Given the description of an element on the screen output the (x, y) to click on. 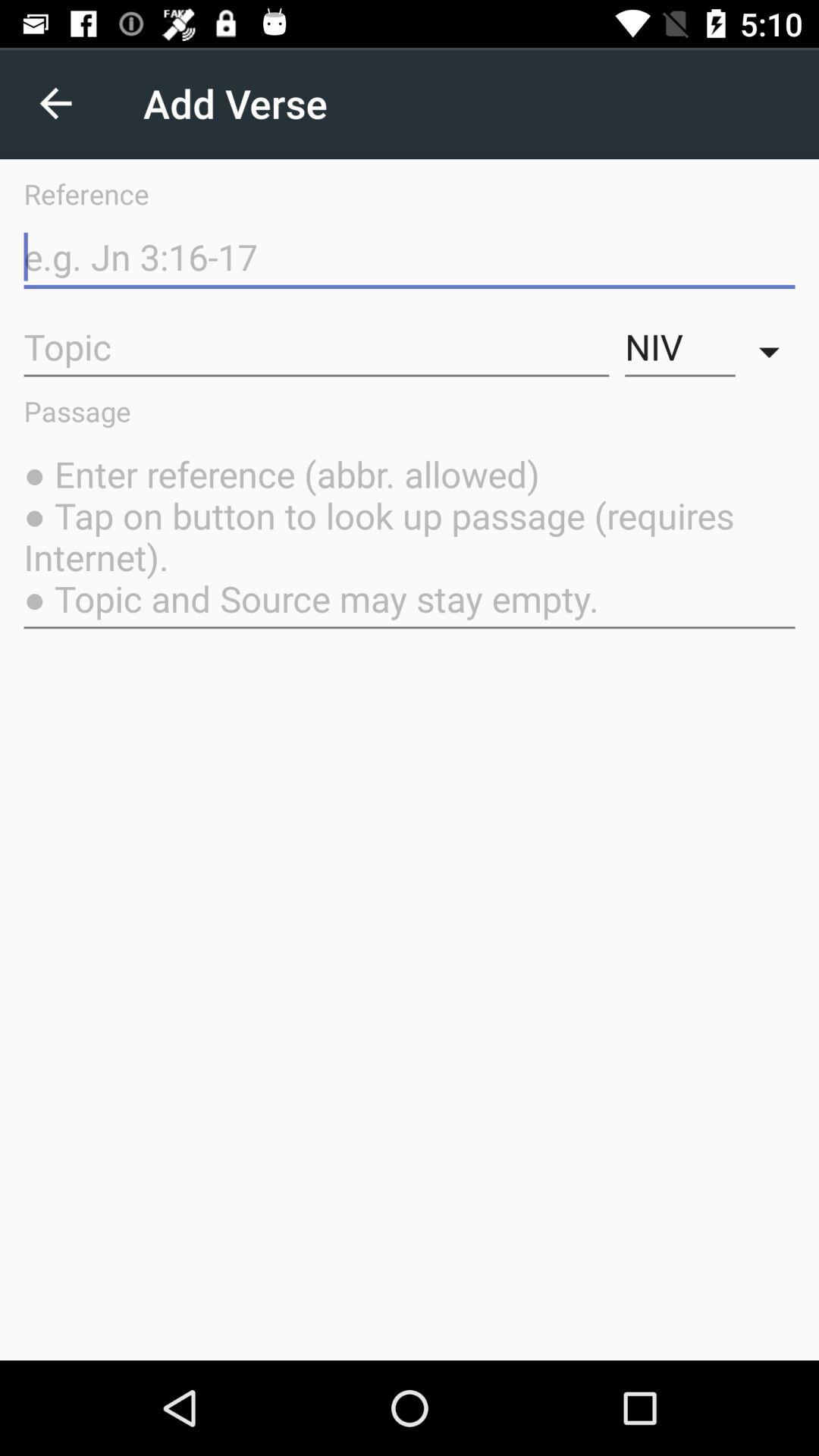
tap the icon next to niv (773, 347)
